Given the description of an element on the screen output the (x, y) to click on. 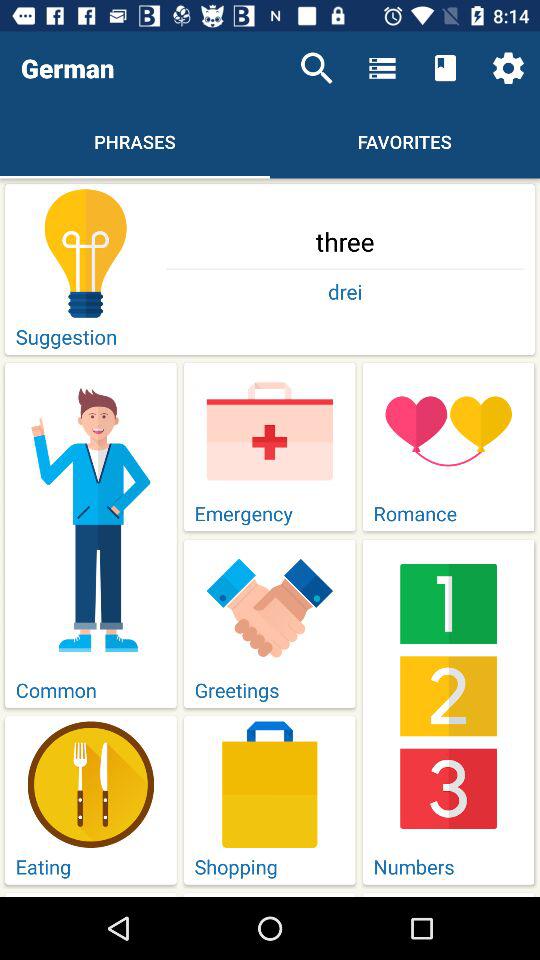
select the item above the favorites (381, 67)
